Given the description of an element on the screen output the (x, y) to click on. 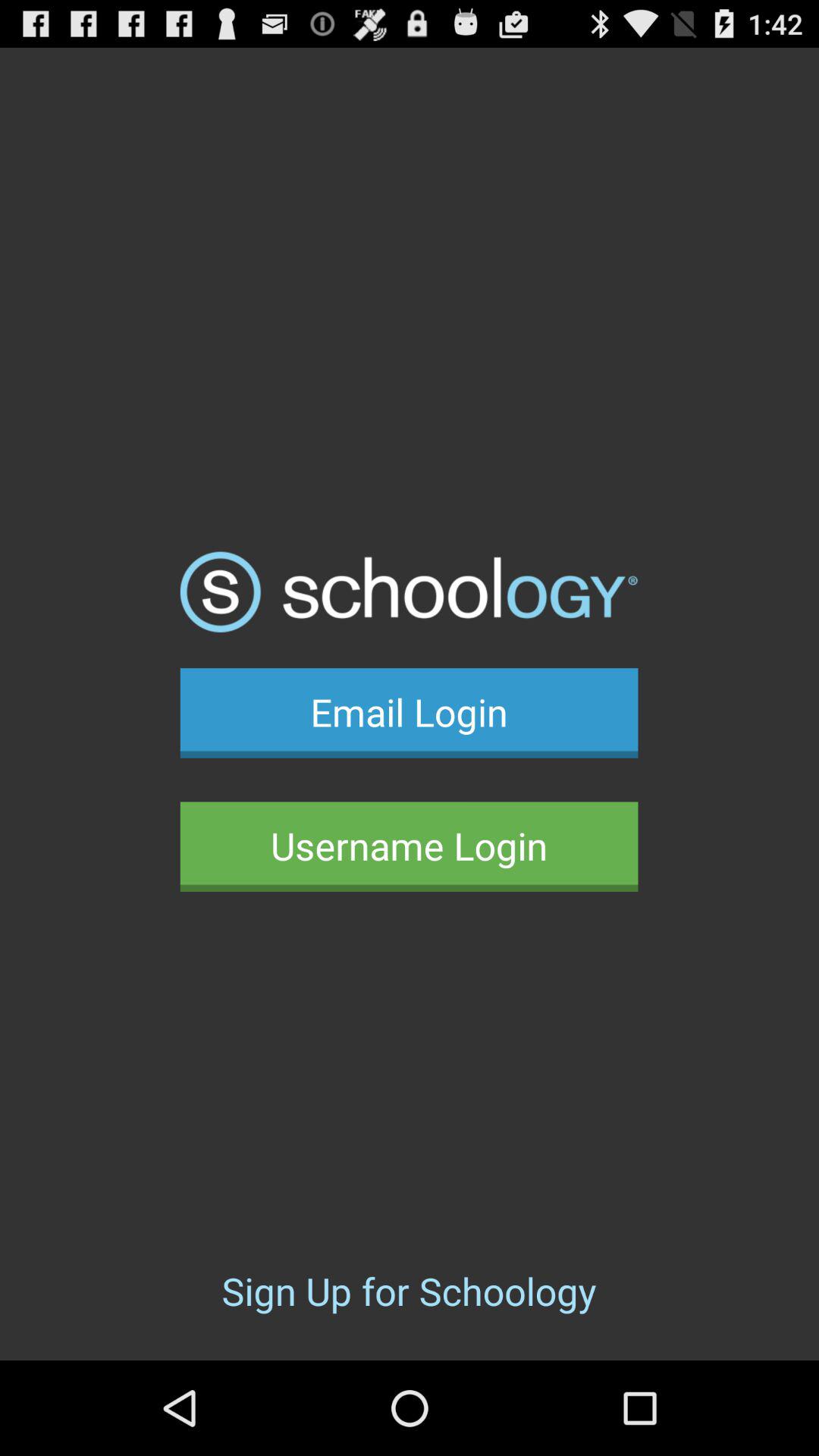
turn off username login icon (409, 846)
